Given the description of an element on the screen output the (x, y) to click on. 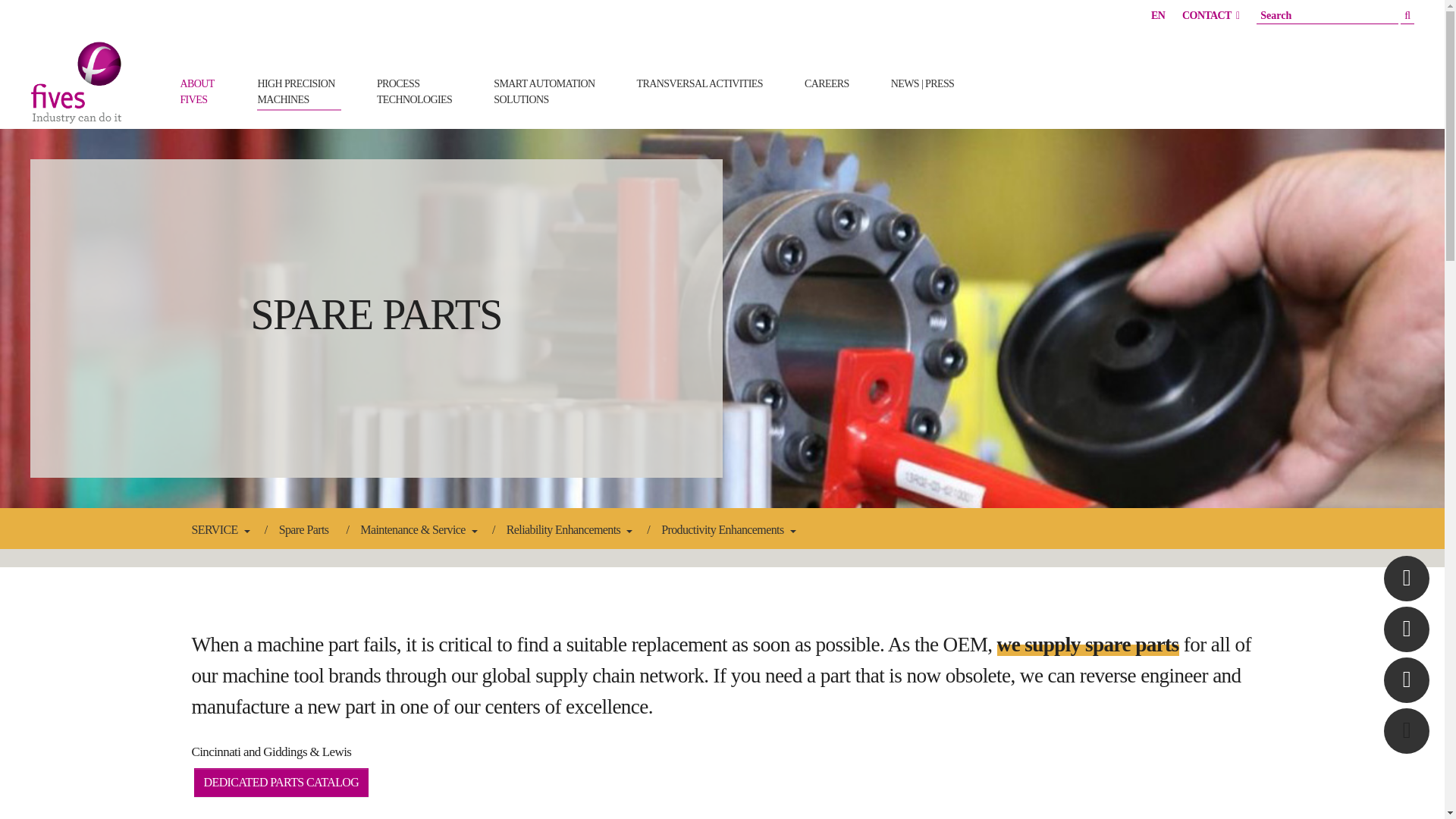
CONTACT (1210, 15)
English (417, 91)
EN (298, 91)
